Given the description of an element on the screen output the (x, y) to click on. 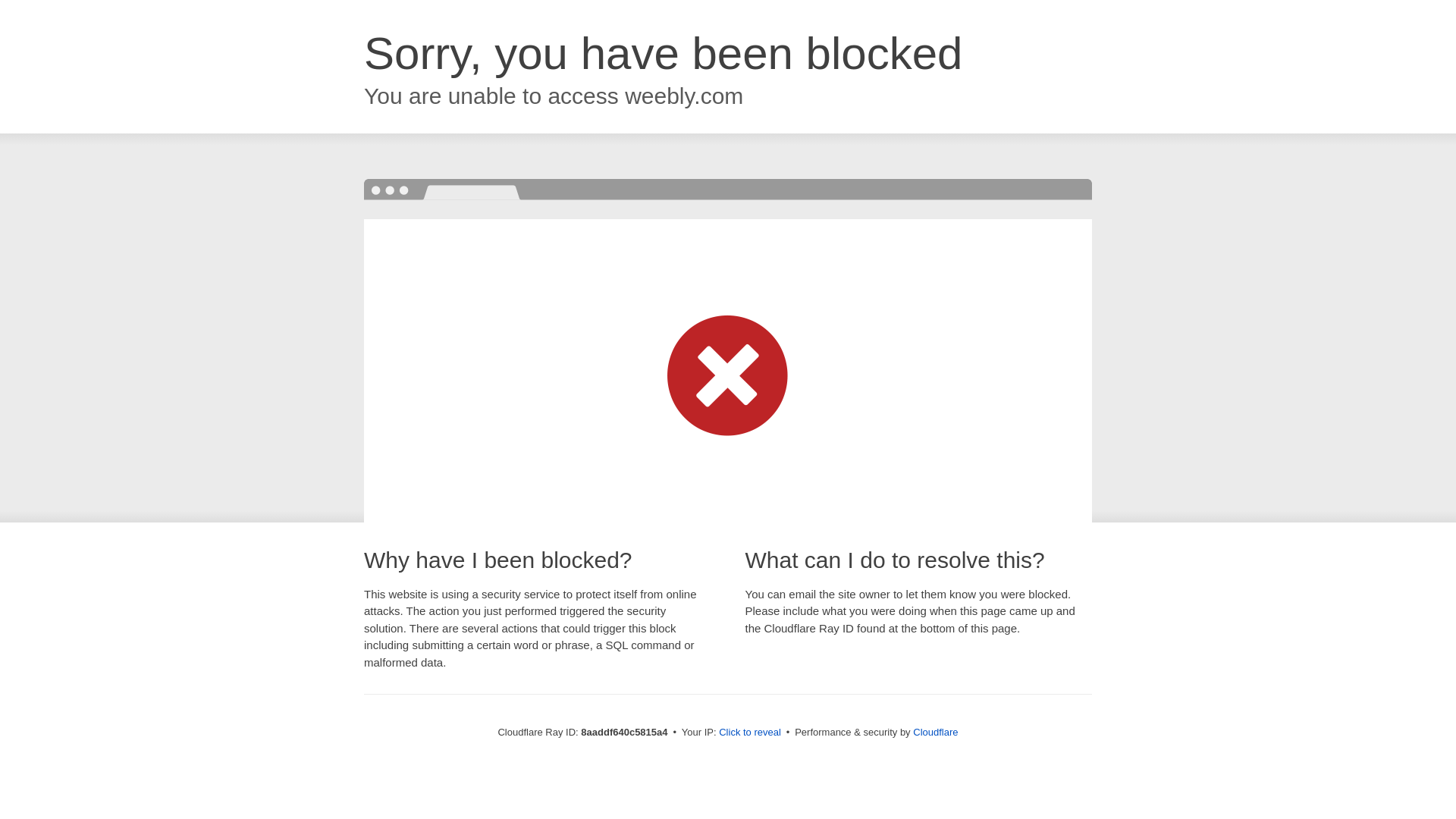
Click to reveal (749, 732)
Cloudflare (935, 731)
